Given the description of an element on the screen output the (x, y) to click on. 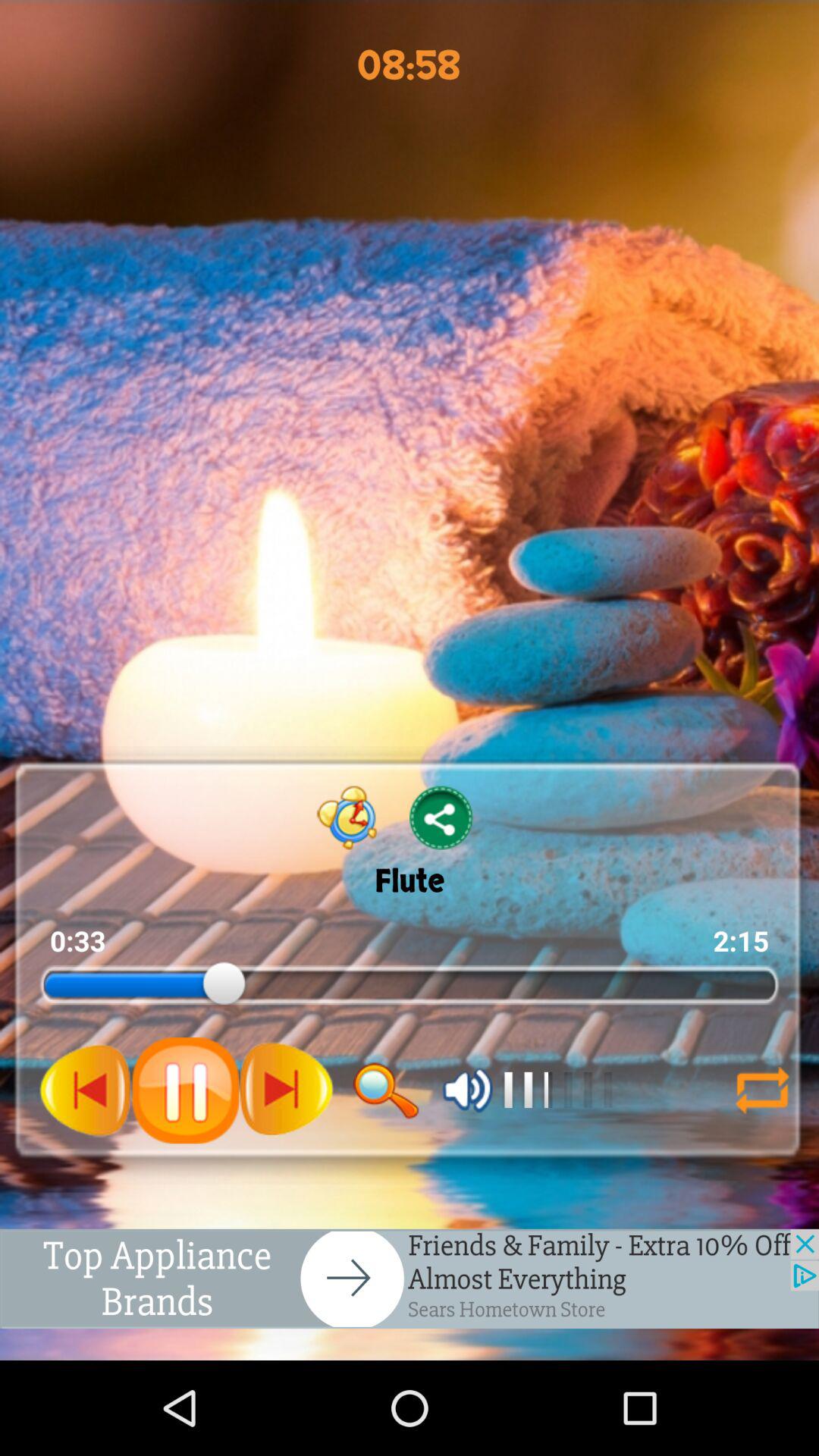
clik timer button (347, 817)
